Given the description of an element on the screen output the (x, y) to click on. 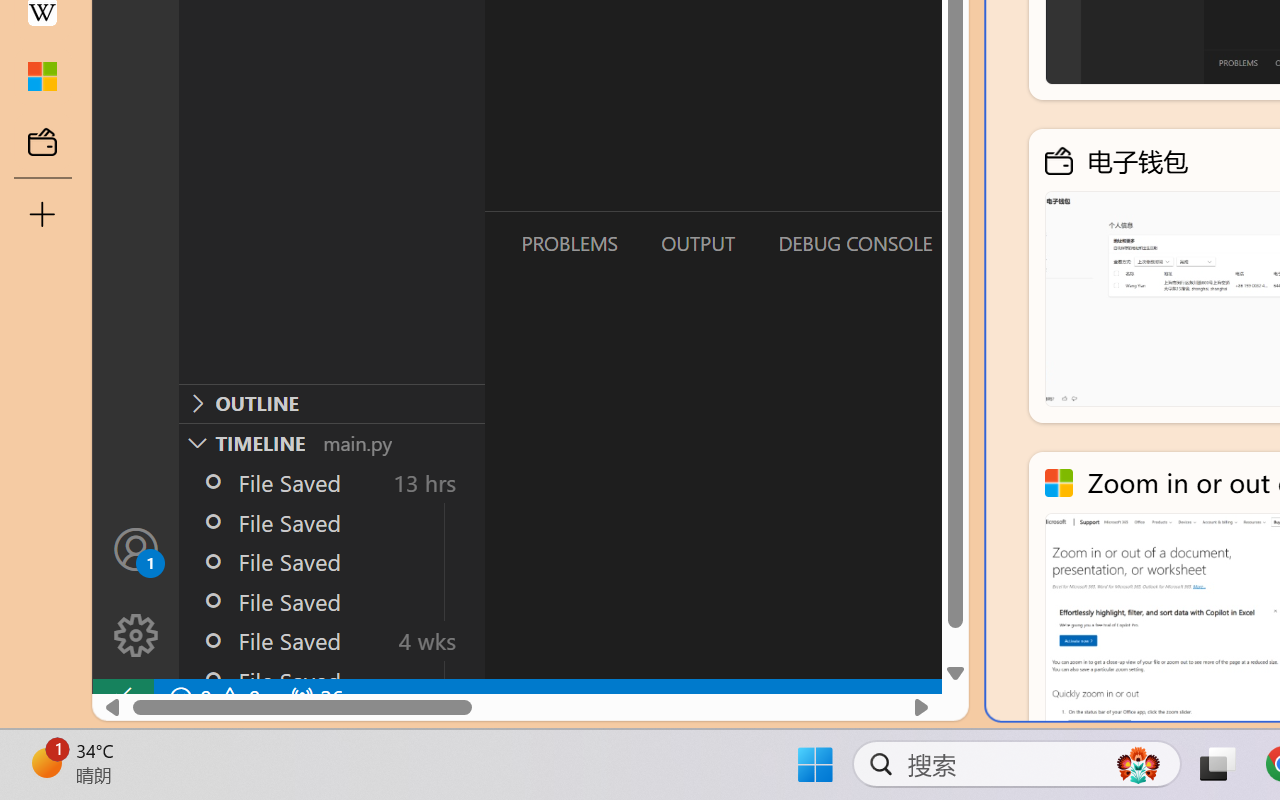
Manage (135, 591)
No Problems (212, 698)
Outline Section (331, 403)
Accounts - Sign in requested (135, 548)
Output (Ctrl+Shift+U) (696, 243)
Terminal (Ctrl+`) (1021, 243)
Manage (135, 635)
